Given the description of an element on the screen output the (x, y) to click on. 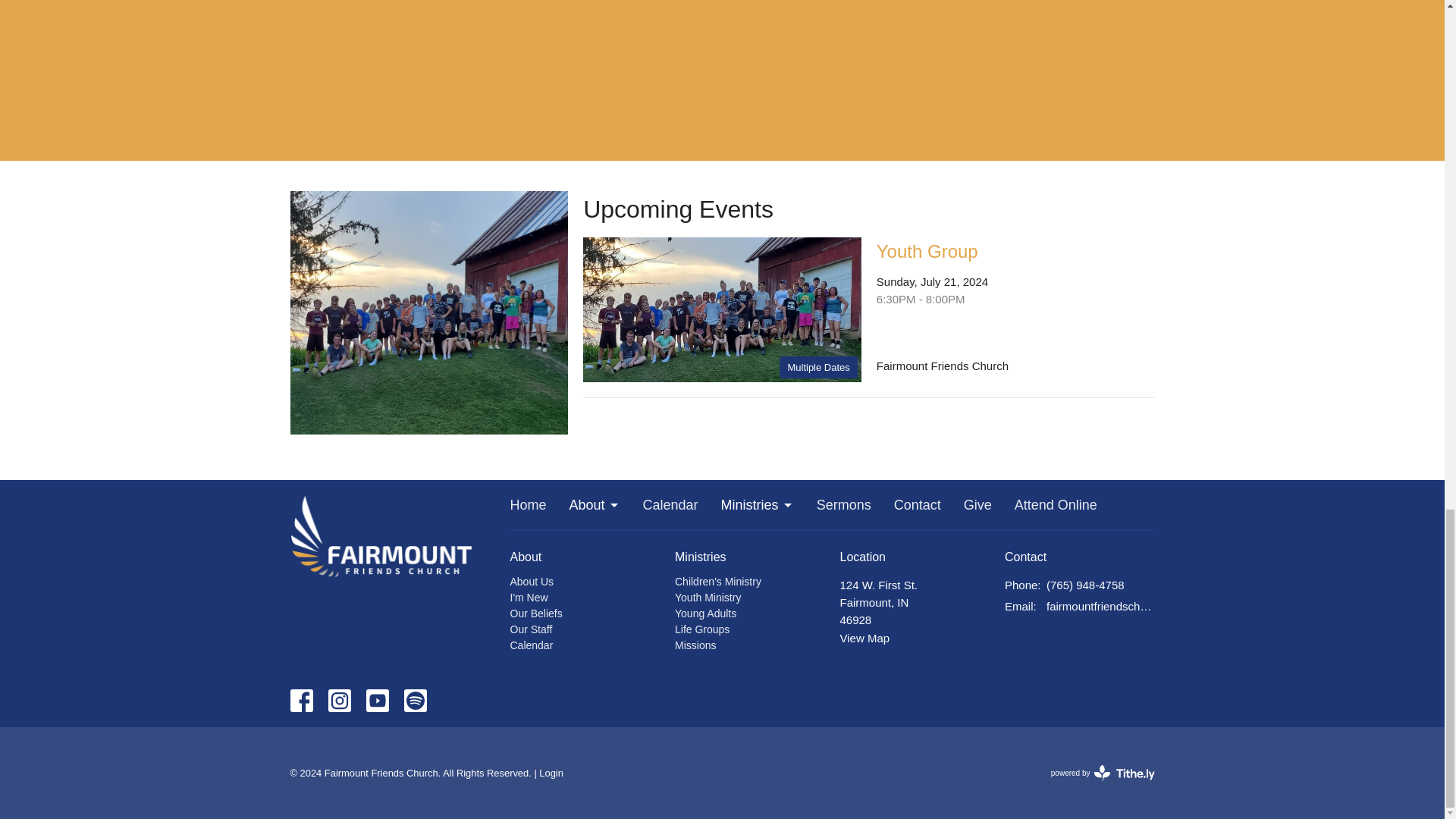
Give (977, 505)
Sermons (843, 505)
Calendar (670, 505)
translation missing: en.ui.email (1018, 605)
Home (527, 505)
Contact (916, 505)
Ministries (756, 505)
About (594, 505)
